Given the description of an element on the screen output the (x, y) to click on. 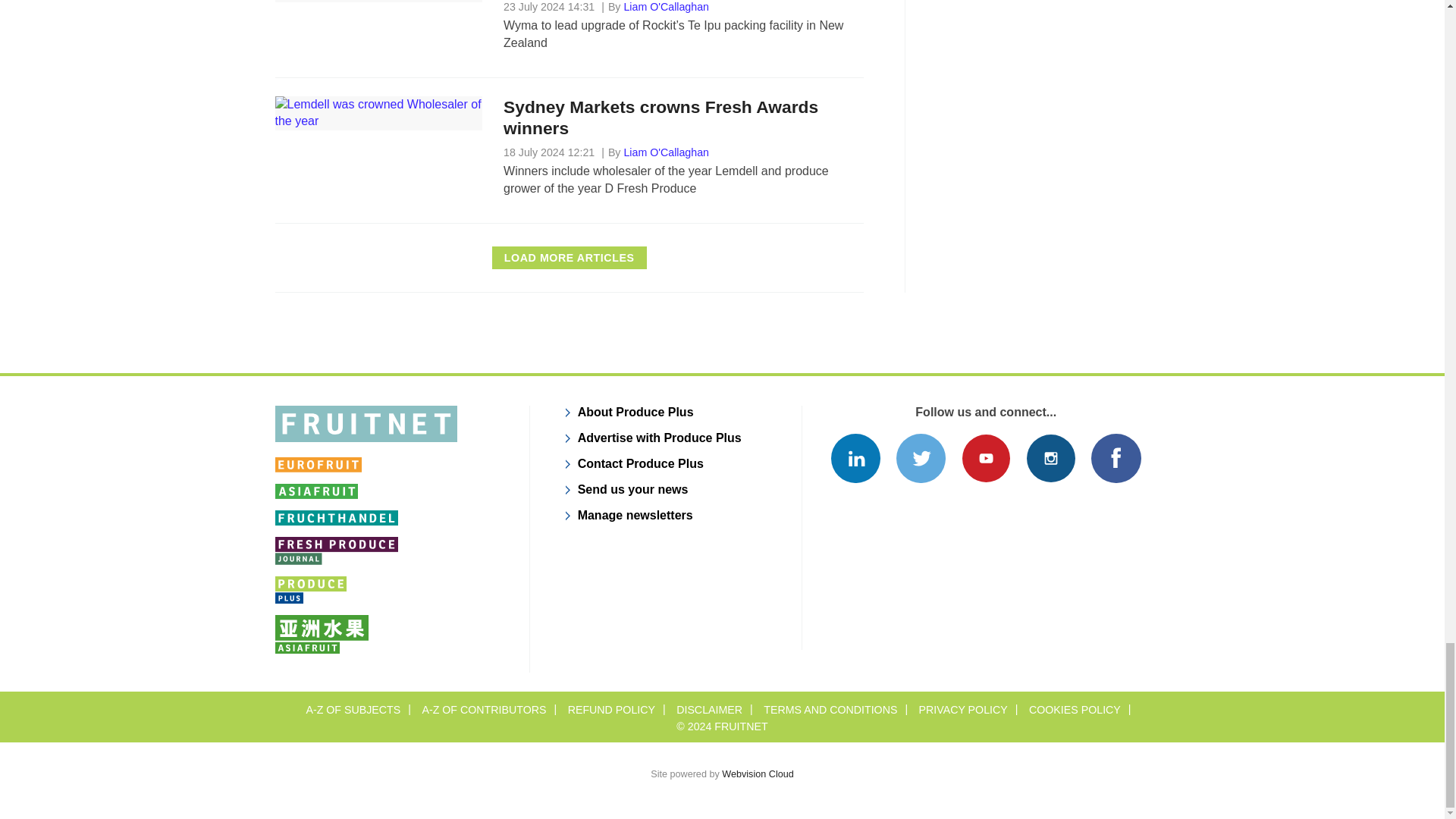
Follow us on Facebook (1115, 458)
Follow us on Linked In (855, 458)
Follow us on Instagram (1050, 458)
Connect with us on Youtube (985, 458)
Connect with us on Twitter (920, 458)
